Given the description of an element on the screen output the (x, y) to click on. 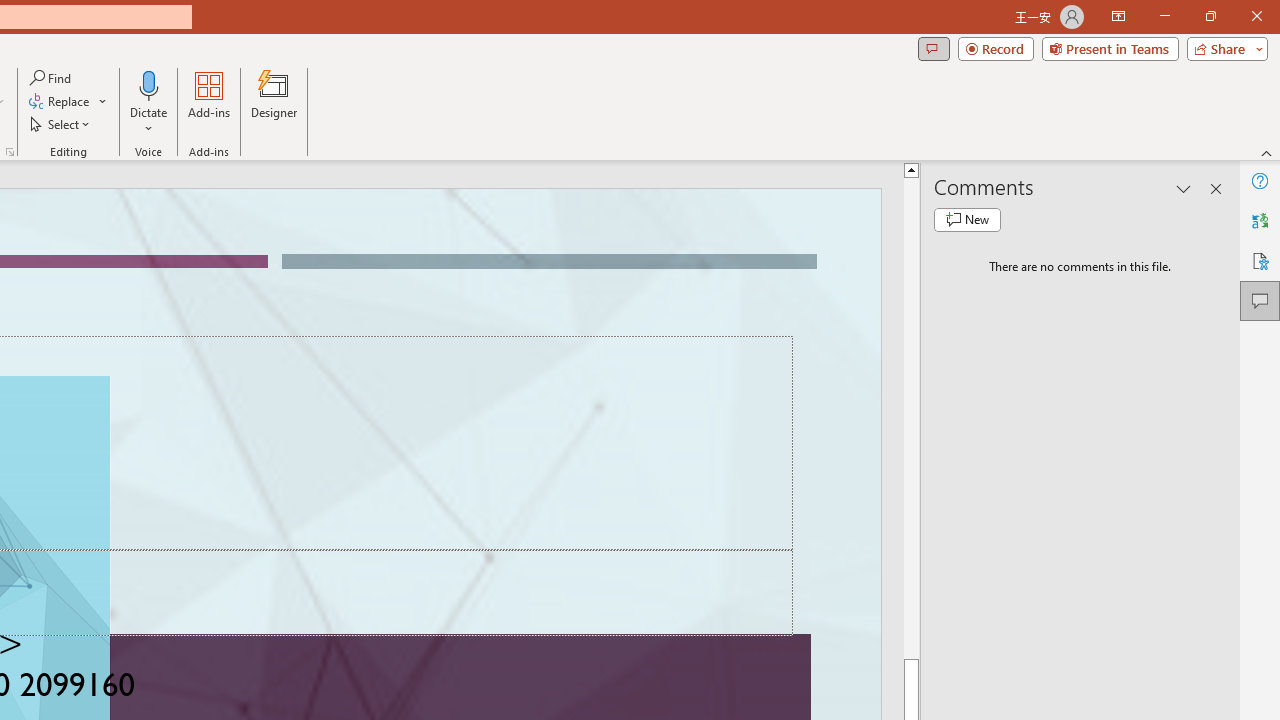
New comment (967, 219)
